Given the description of an element on the screen output the (x, y) to click on. 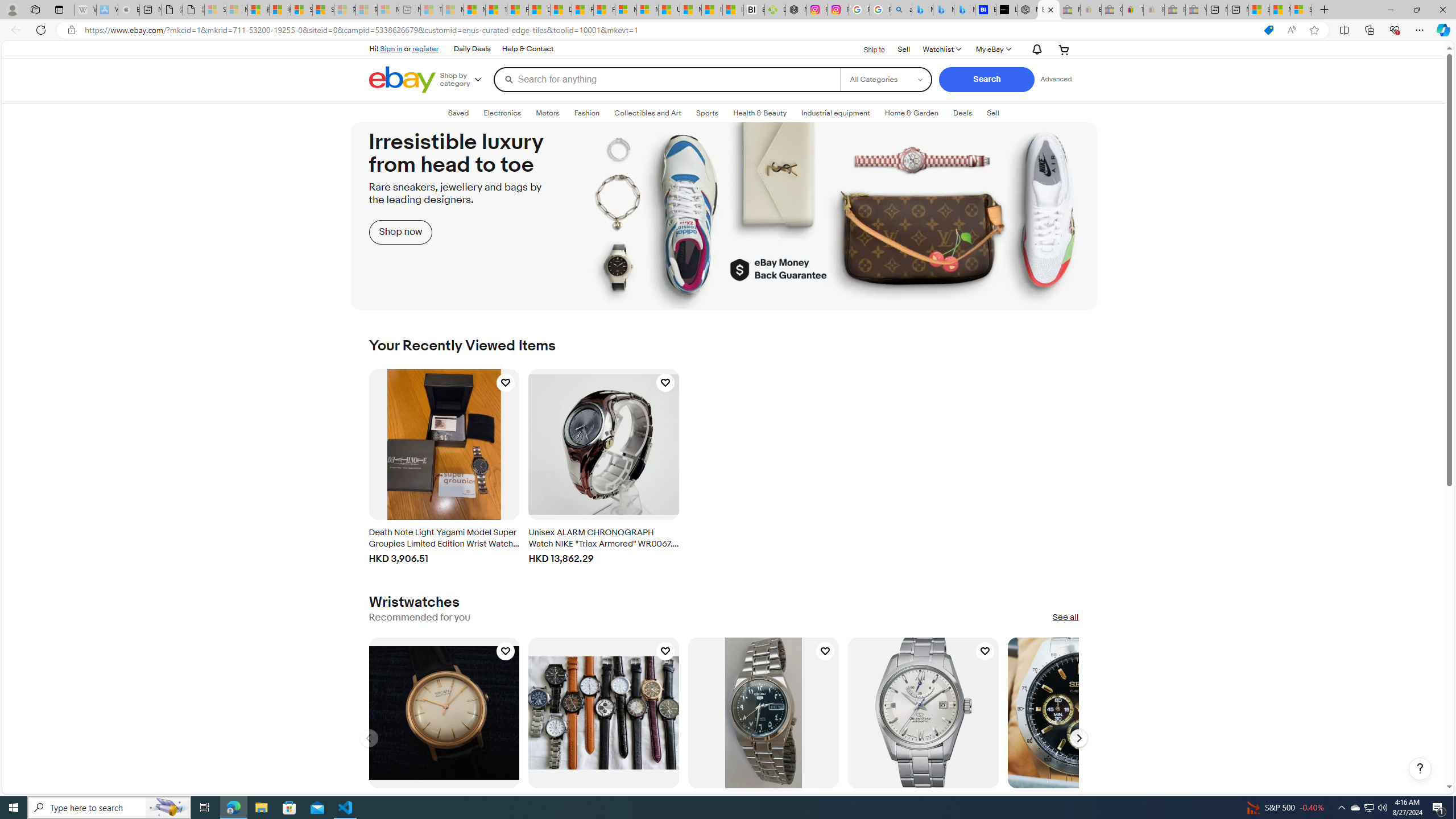
Saved (458, 112)
Food and Drink - MSN (517, 9)
Shop by category (464, 79)
My eBay (992, 49)
WatchlistExpand Watch List (940, 49)
Your shopping cart (1064, 49)
FashionExpand: Fashion (586, 112)
ElectronicsExpand: Electronics (502, 112)
